Given the description of an element on the screen output the (x, y) to click on. 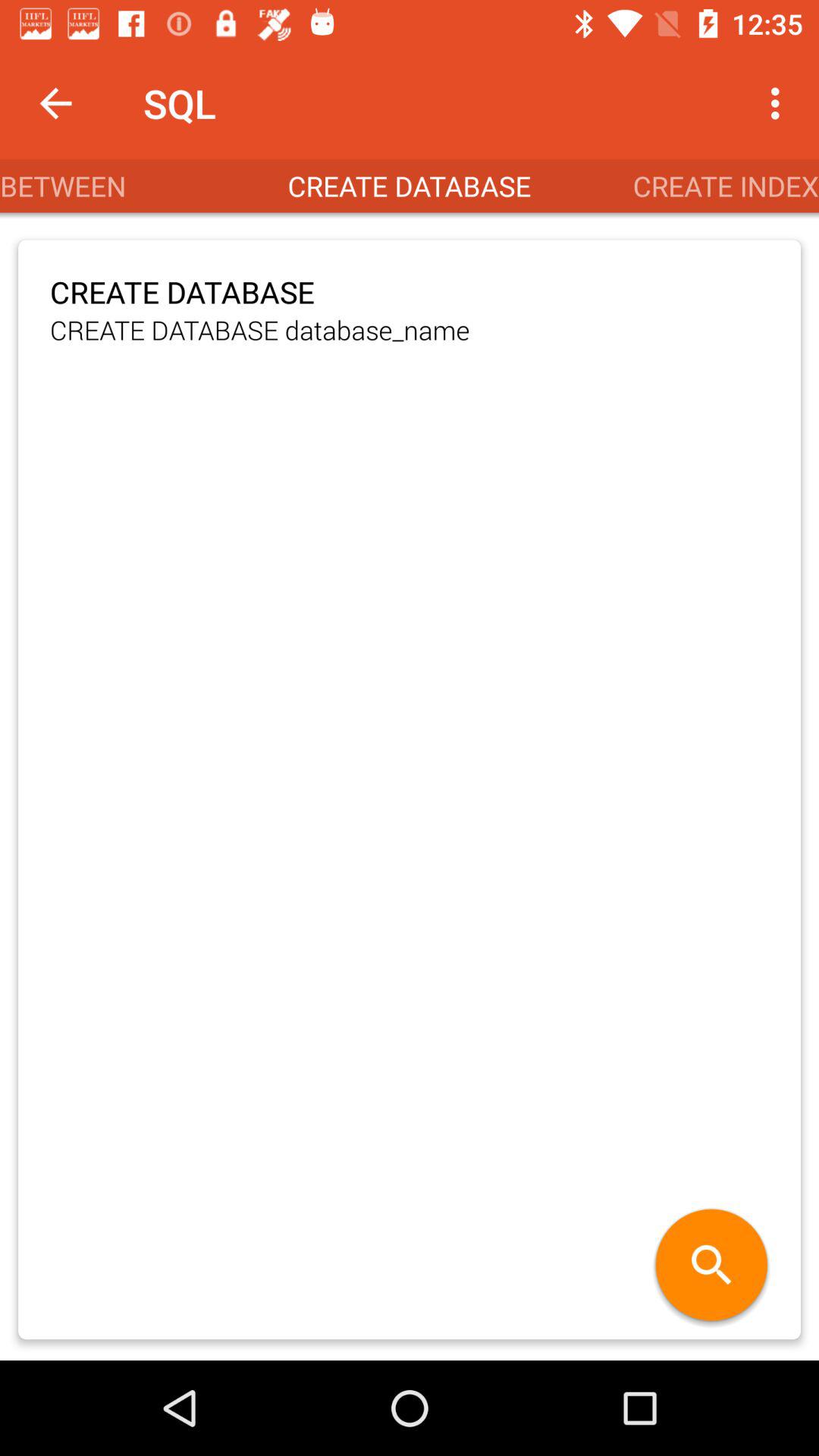
choose the item next to the sql app (55, 103)
